Given the description of an element on the screen output the (x, y) to click on. 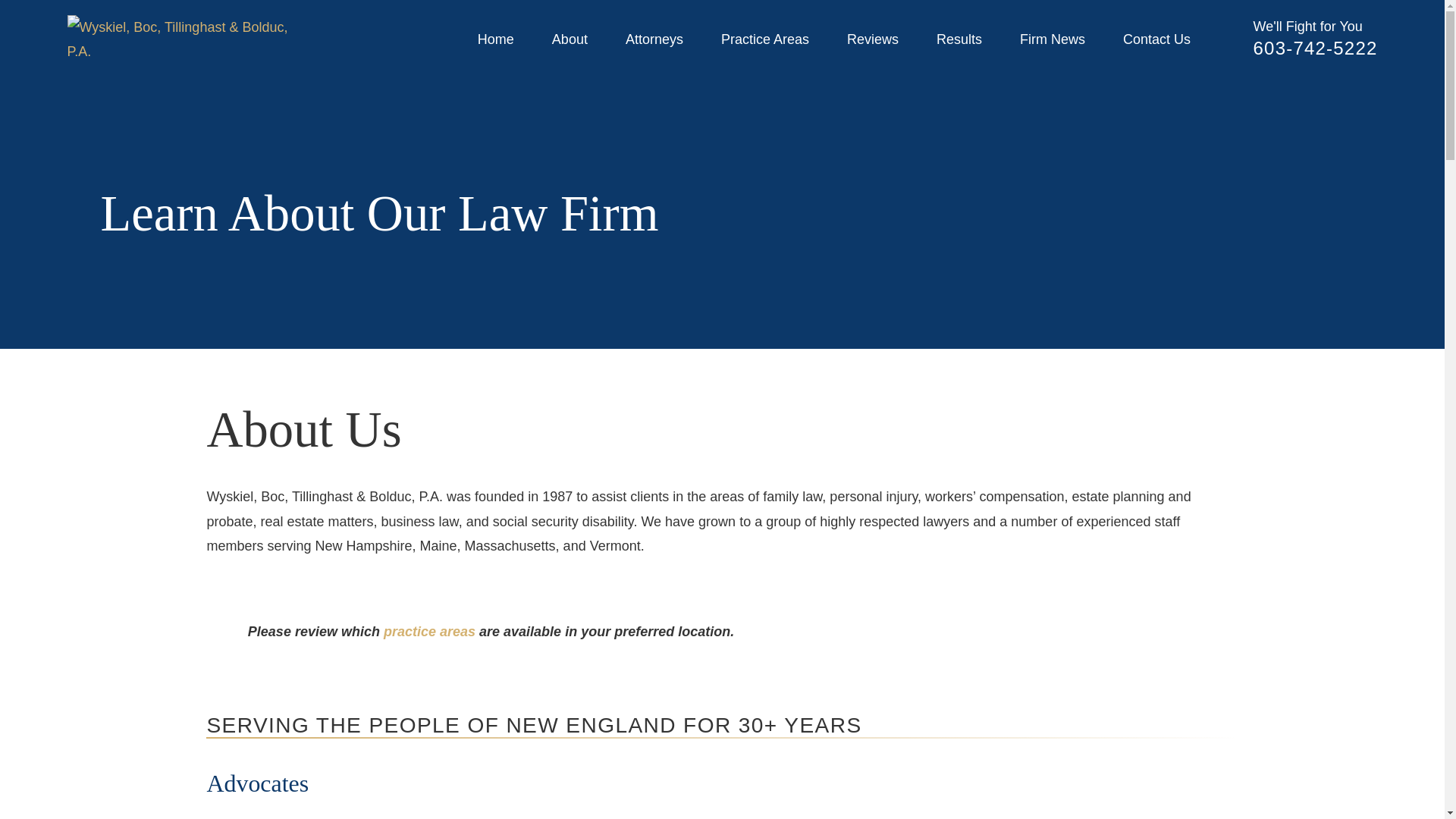
Home (183, 39)
Reviews (872, 39)
Practice Areas (764, 39)
Attorneys (654, 39)
Firm News (1052, 39)
